Given the description of an element on the screen output the (x, y) to click on. 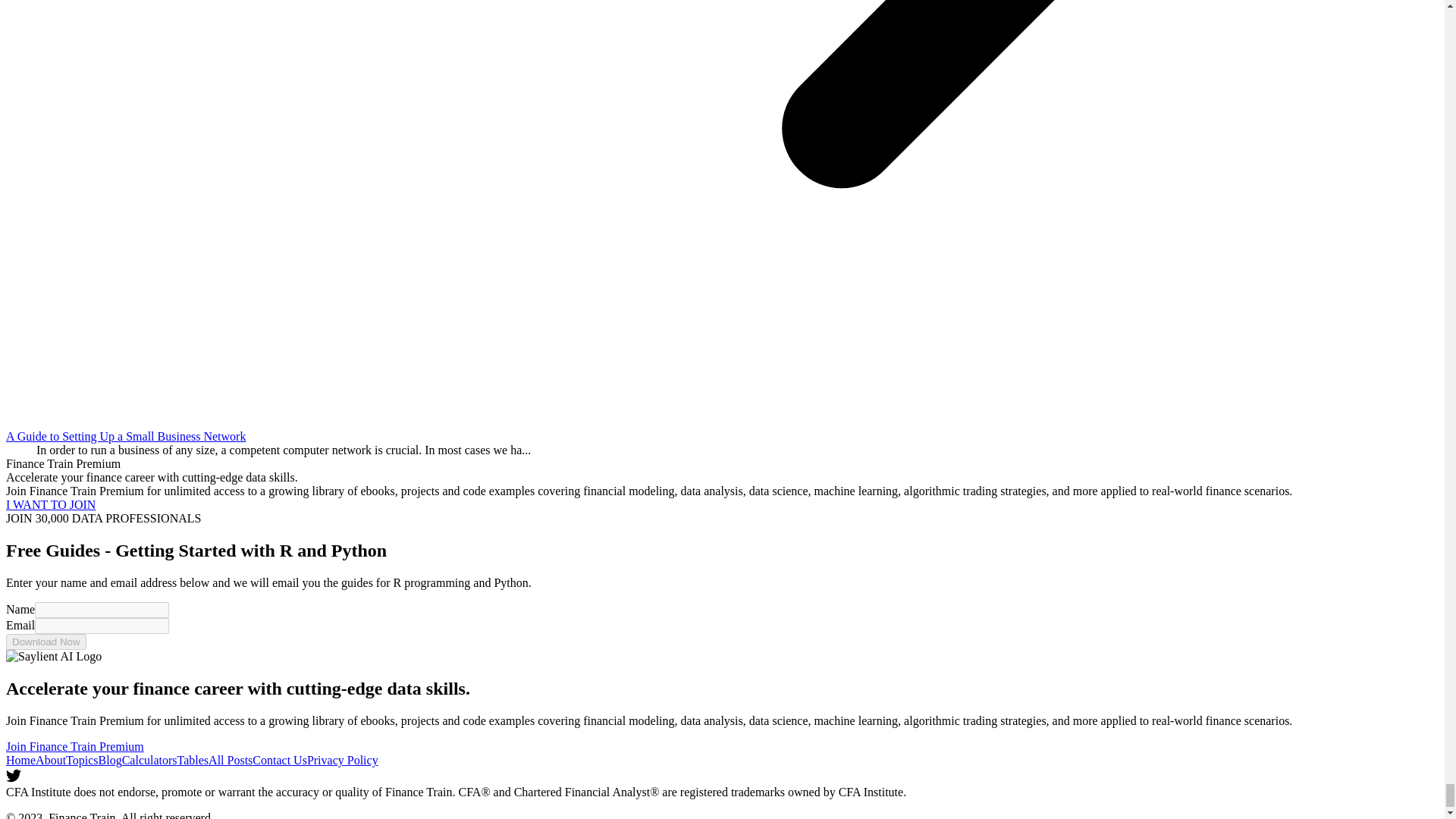
Download Now (45, 641)
